Given the description of an element on the screen output the (x, y) to click on. 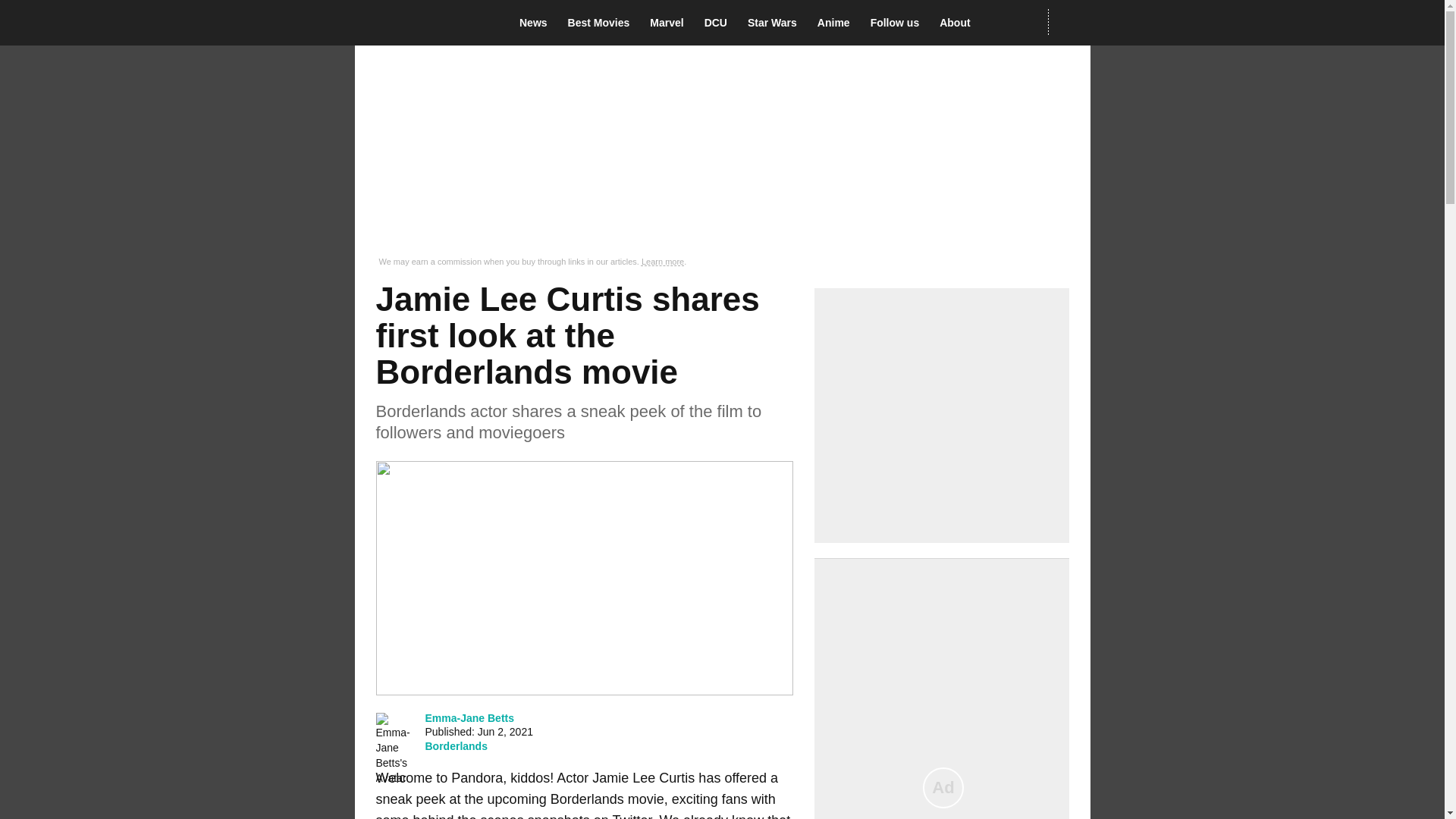
Emma-Jane Betts (469, 717)
DCU (720, 22)
Star Wars News (777, 22)
About (958, 22)
Star Wars (777, 22)
DC Comics Universe News (720, 22)
Anime News (837, 22)
Anime (837, 22)
Marvel (671, 22)
Best Movies (603, 22)
News (537, 22)
Borderlands (455, 746)
Network N Media (1068, 22)
Marvel Cinematic Universe News (671, 22)
The Digital Fix (424, 22)
